Given the description of an element on the screen output the (x, y) to click on. 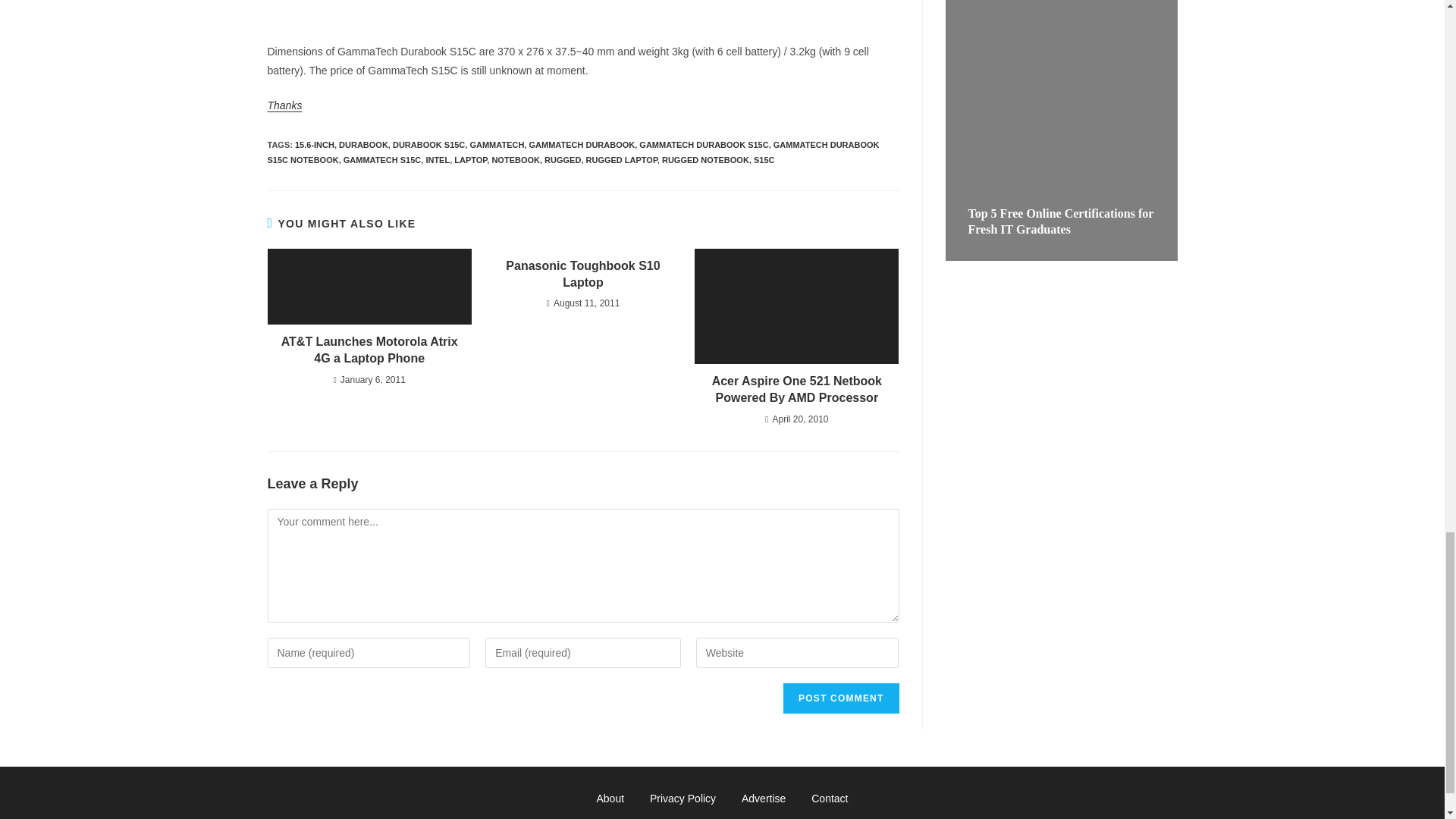
Top 5 Free Online Certifications for Fresh IT Graduates (1060, 221)
Post Comment (840, 698)
15.6-INCH (314, 144)
Thanks (283, 105)
